Given the description of an element on the screen output the (x, y) to click on. 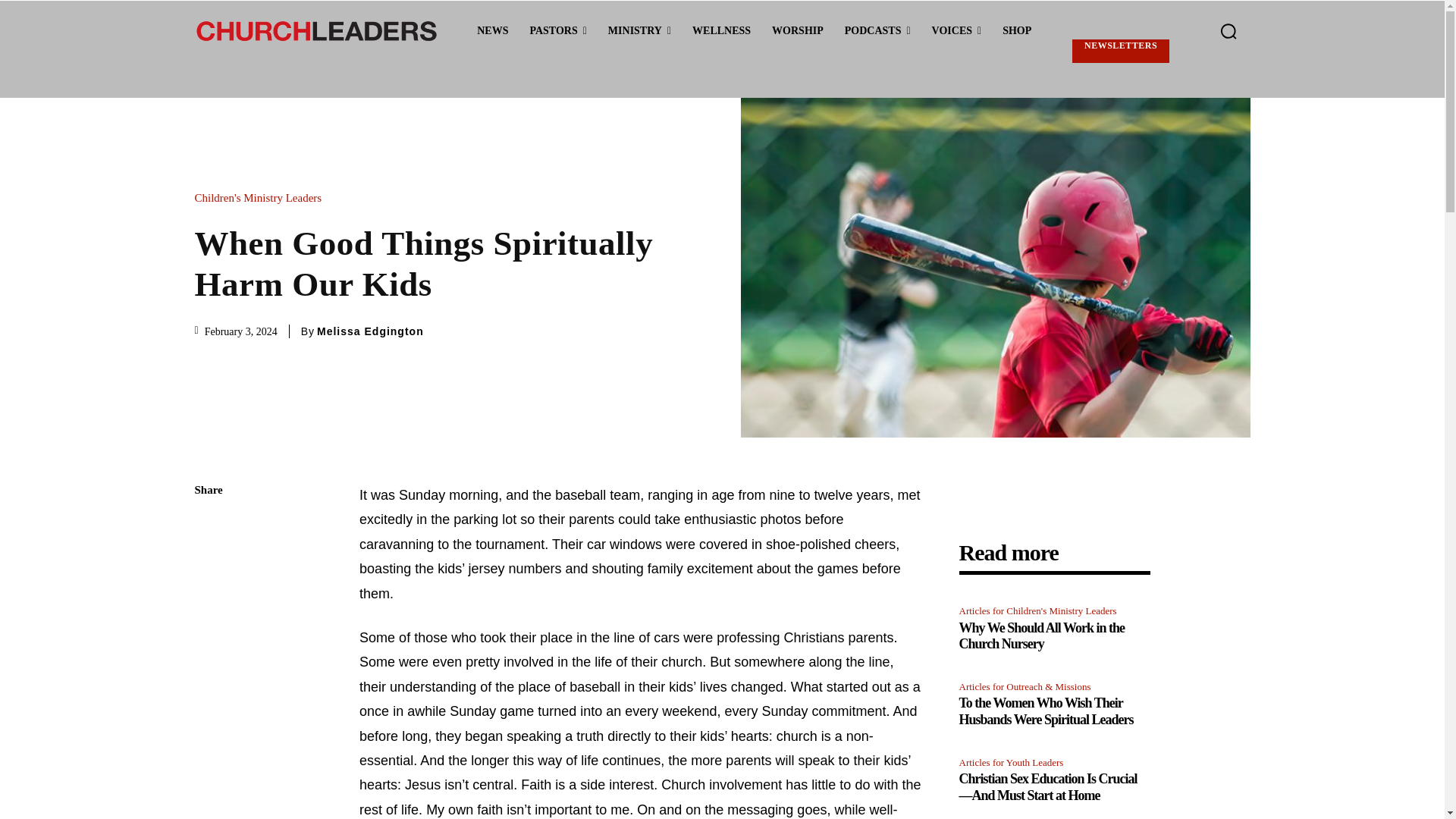
Why We Should All Work in the Church Nursery (1041, 635)
WELLNESS (721, 30)
MINISTRY (638, 30)
PODCASTS (877, 30)
WORSHIP (797, 30)
PASTORS (557, 30)
Newsletters (1120, 51)
To the Women Who Wish Their Husbands Were Spiritual Leaders (1045, 711)
